Given the description of an element on the screen output the (x, y) to click on. 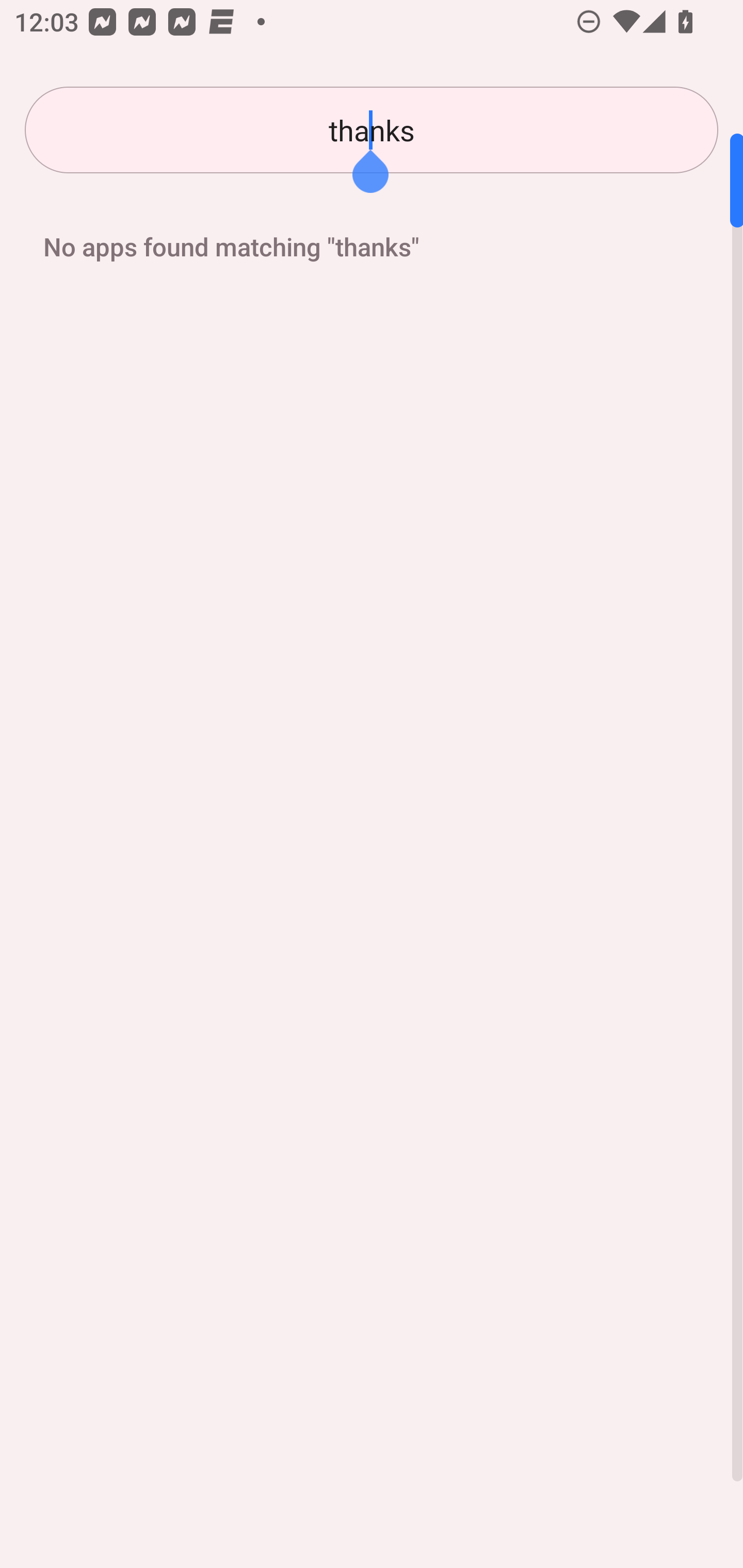
thanks (371, 130)
